Given the description of an element on the screen output the (x, y) to click on. 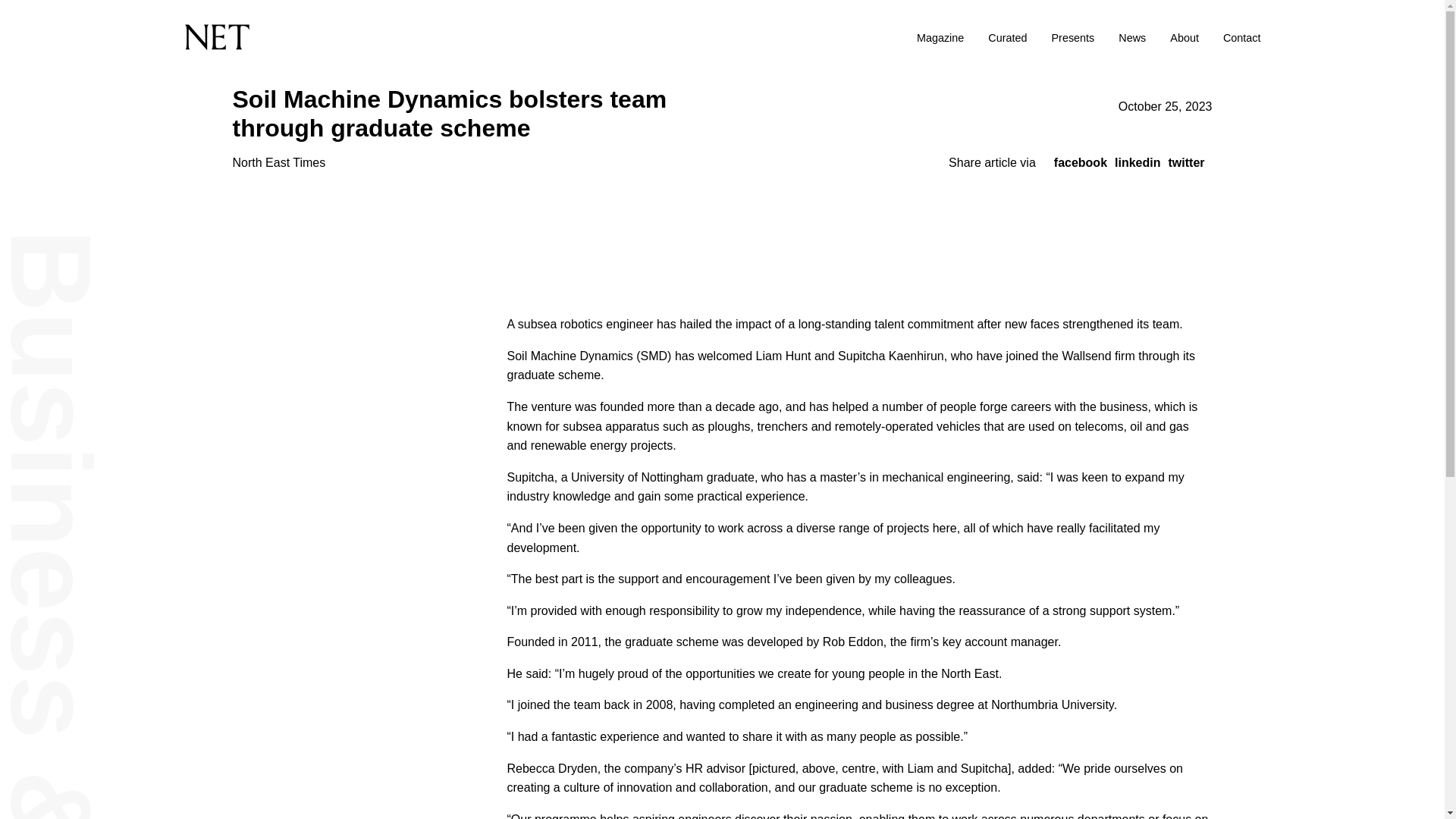
Share via LinkedIn (1137, 162)
Share via Facebook (1080, 162)
linkedin (1137, 162)
Return to the homepage (383, 37)
Share via Twitter (1185, 162)
facebook (1080, 162)
twitter (1185, 162)
About (1184, 37)
Presents (1072, 37)
Contact (1241, 37)
